Given the description of an element on the screen output the (x, y) to click on. 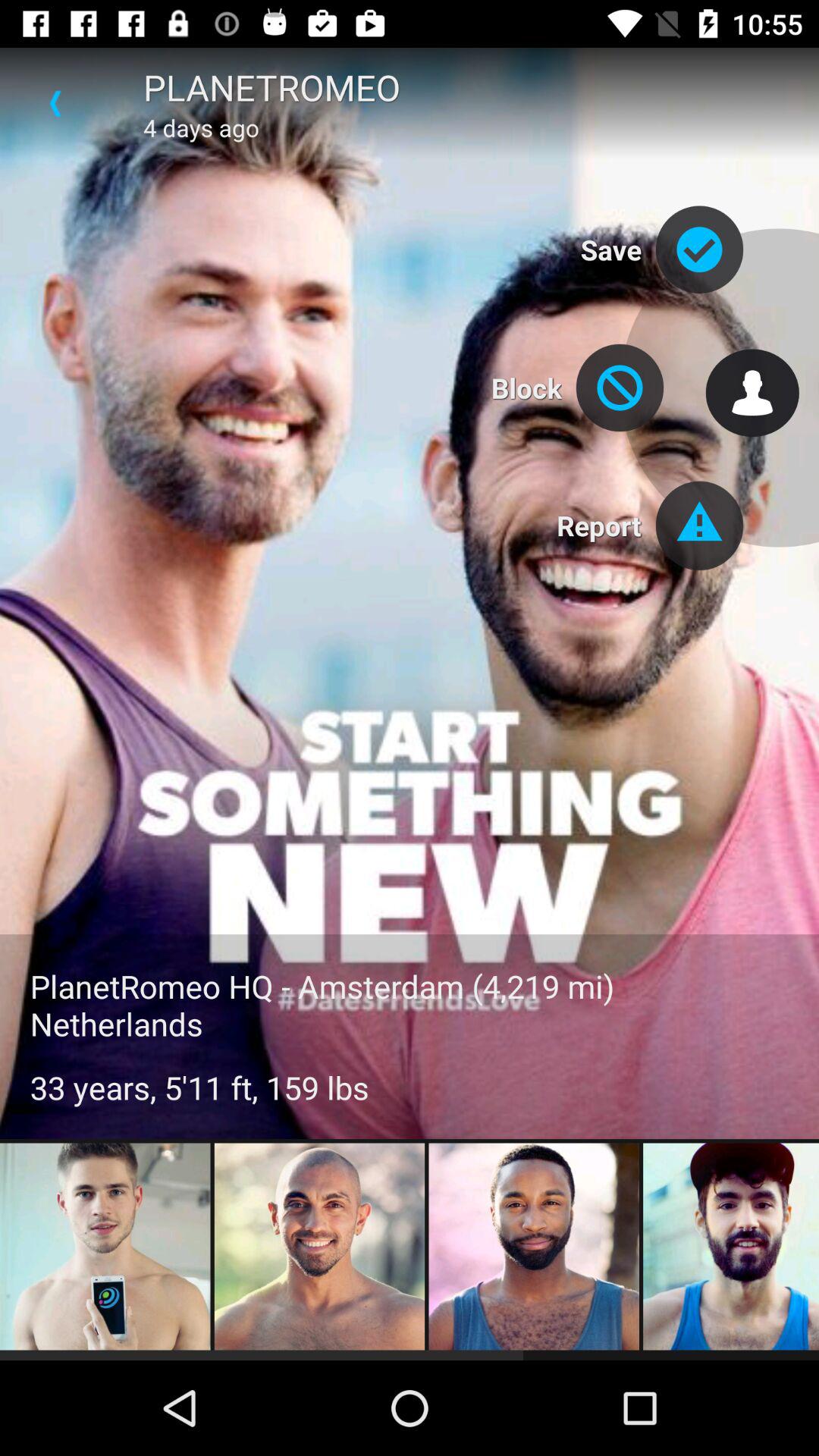
turn on the icon to the left of planetromeo icon (55, 103)
